Given the description of an element on the screen output the (x, y) to click on. 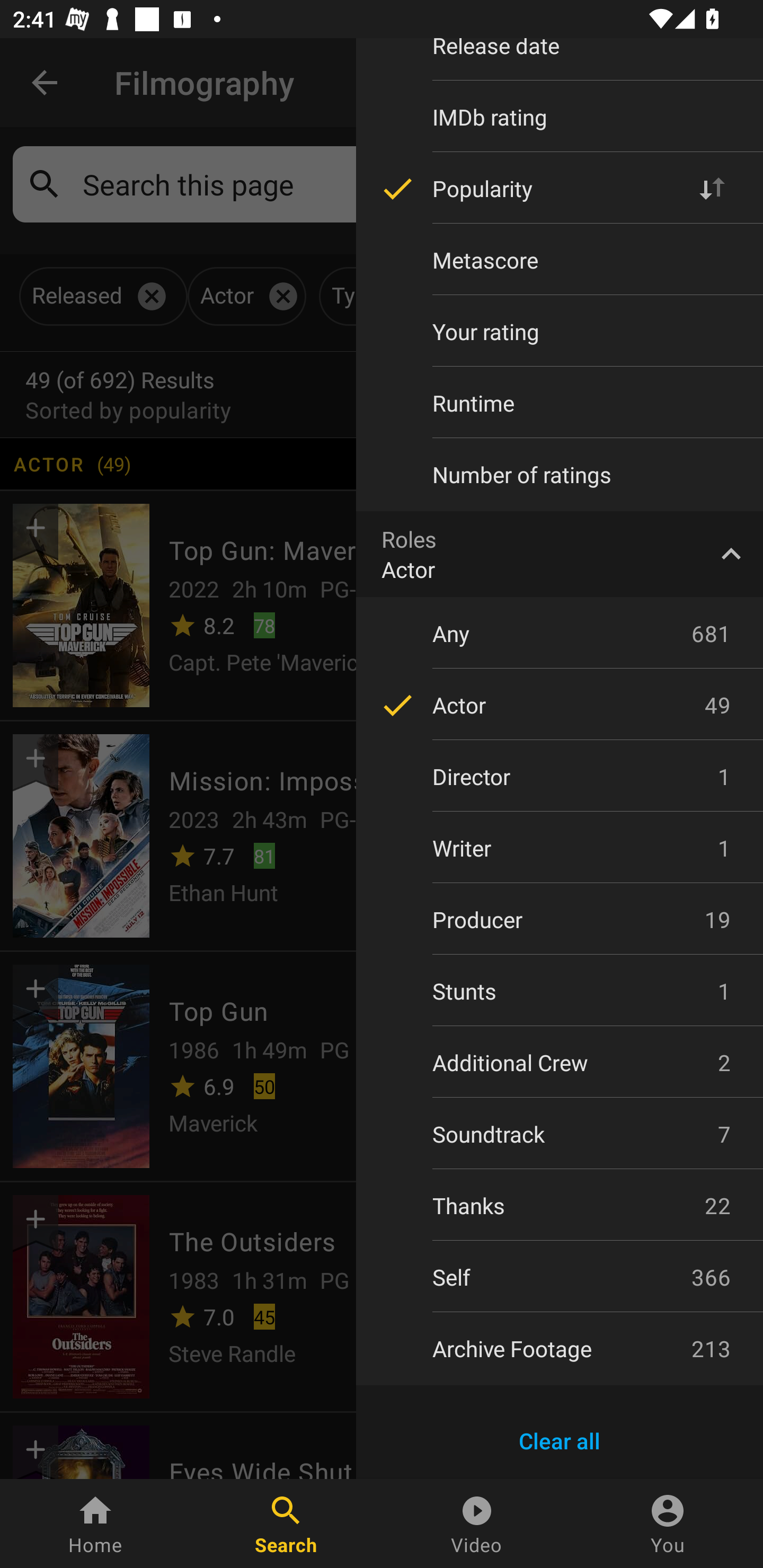
Release date (559, 58)
IMDb rating (559, 116)
Popularity (559, 188)
Metascore (559, 259)
Your rating (559, 331)
Runtime (559, 402)
Number of ratings (559, 474)
Roles Actor (559, 554)
Any 681 (559, 632)
Actor 49 (559, 704)
Director 1 (559, 776)
Writer 1 (559, 847)
Producer 19 (559, 919)
Stunts 1 (559, 990)
Additional Crew 2 (559, 1062)
Soundtrack 7 (559, 1134)
Thanks 22 (559, 1205)
Self 366 (559, 1276)
Archive Footage 213 (559, 1347)
Clear all (559, 1440)
Home (95, 1523)
Video (476, 1523)
You (667, 1523)
